Given the description of an element on the screen output the (x, y) to click on. 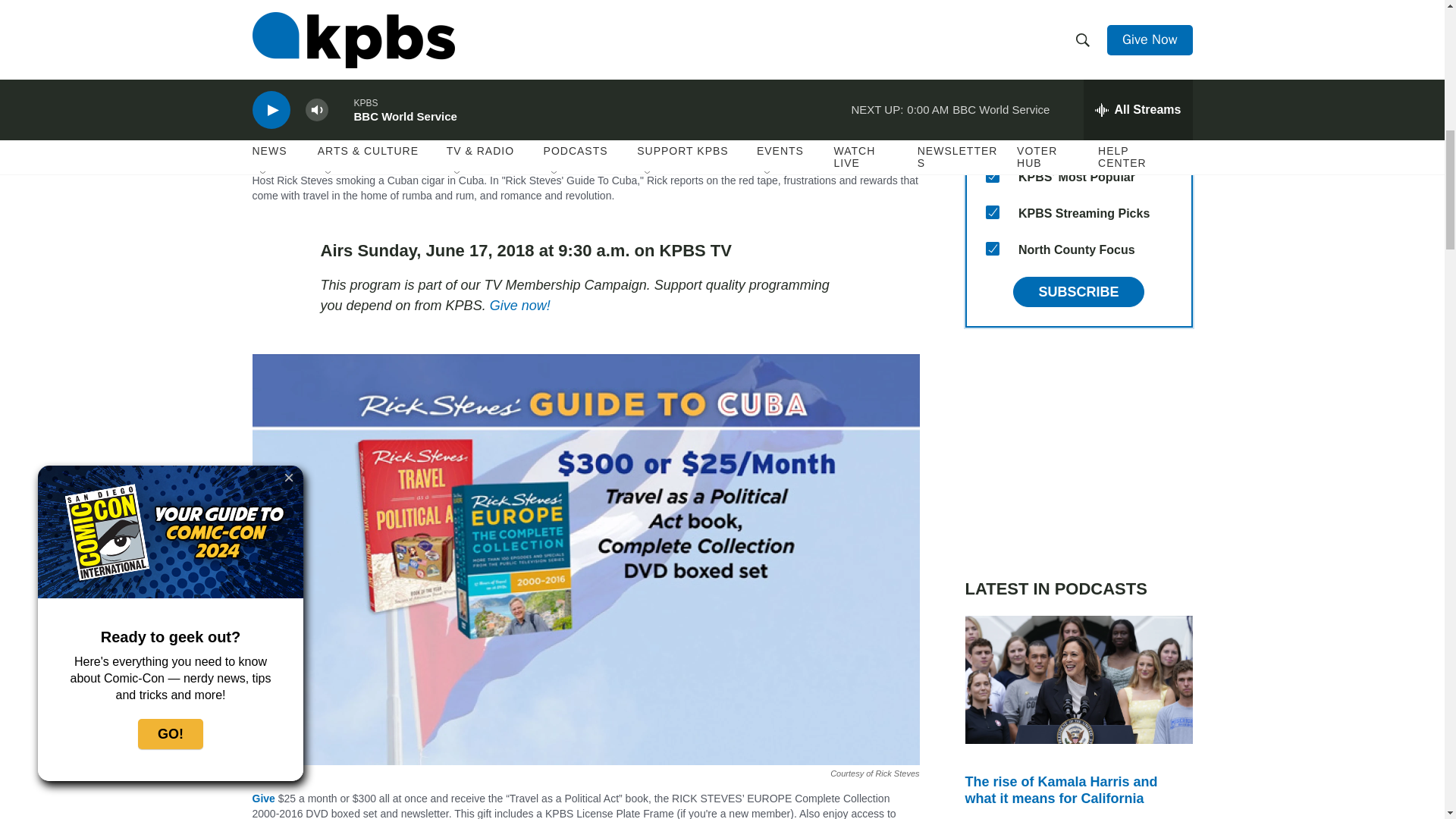
5 (991, 66)
6 (991, 102)
Give (519, 305)
8 (991, 212)
1 (991, 175)
2 (991, 139)
15 (991, 248)
Give (263, 798)
4 (991, 29)
